Given the description of an element on the screen output the (x, y) to click on. 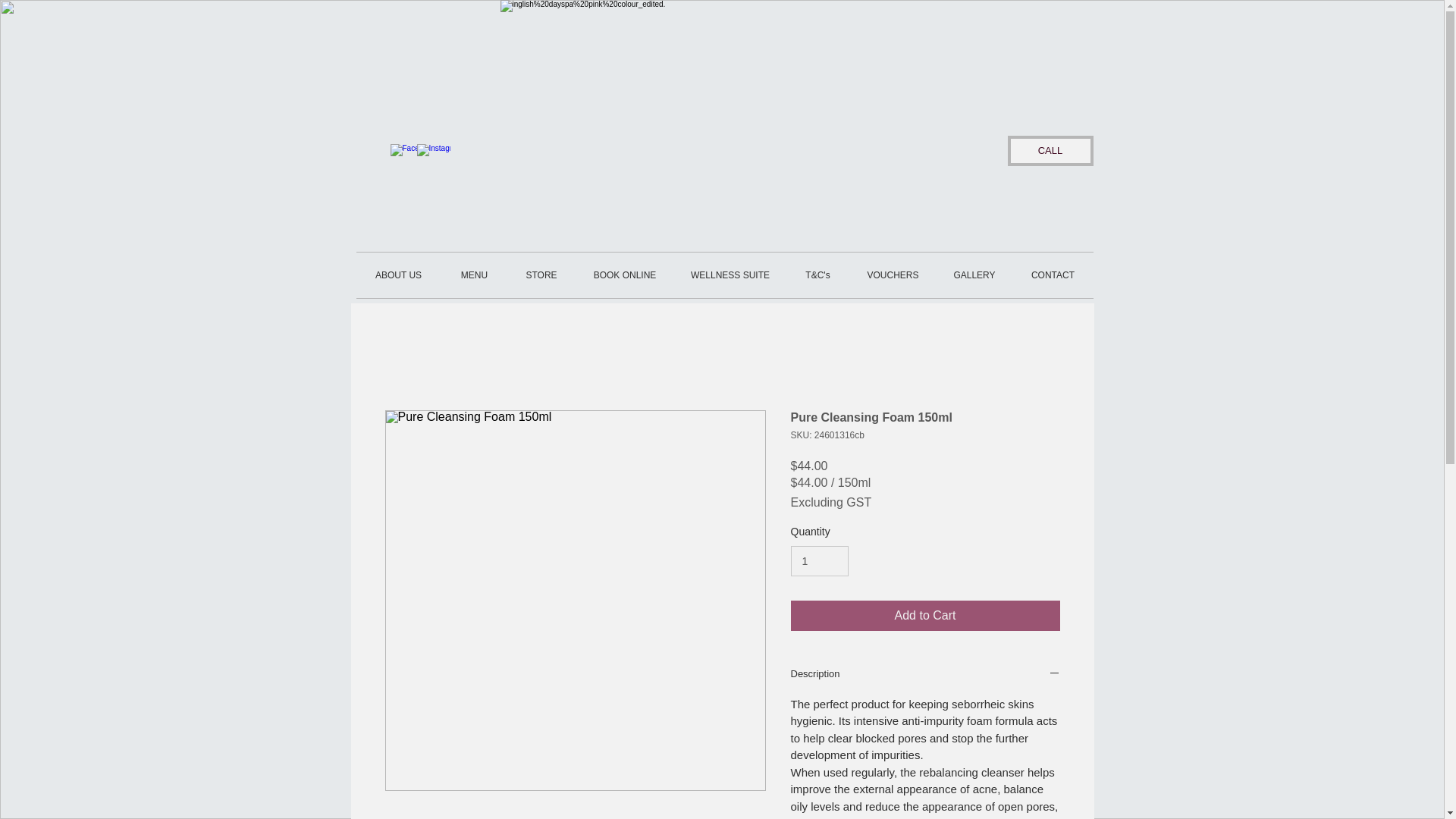
ABOUT US (398, 275)
1 (818, 561)
GALLERY (973, 275)
BOOK ONLINE (624, 275)
VOUCHERS (892, 275)
Description (924, 674)
WELLNESS SUITE (730, 275)
CONTACT (1053, 275)
MENU (474, 275)
Add to Cart (924, 615)
